Given the description of an element on the screen output the (x, y) to click on. 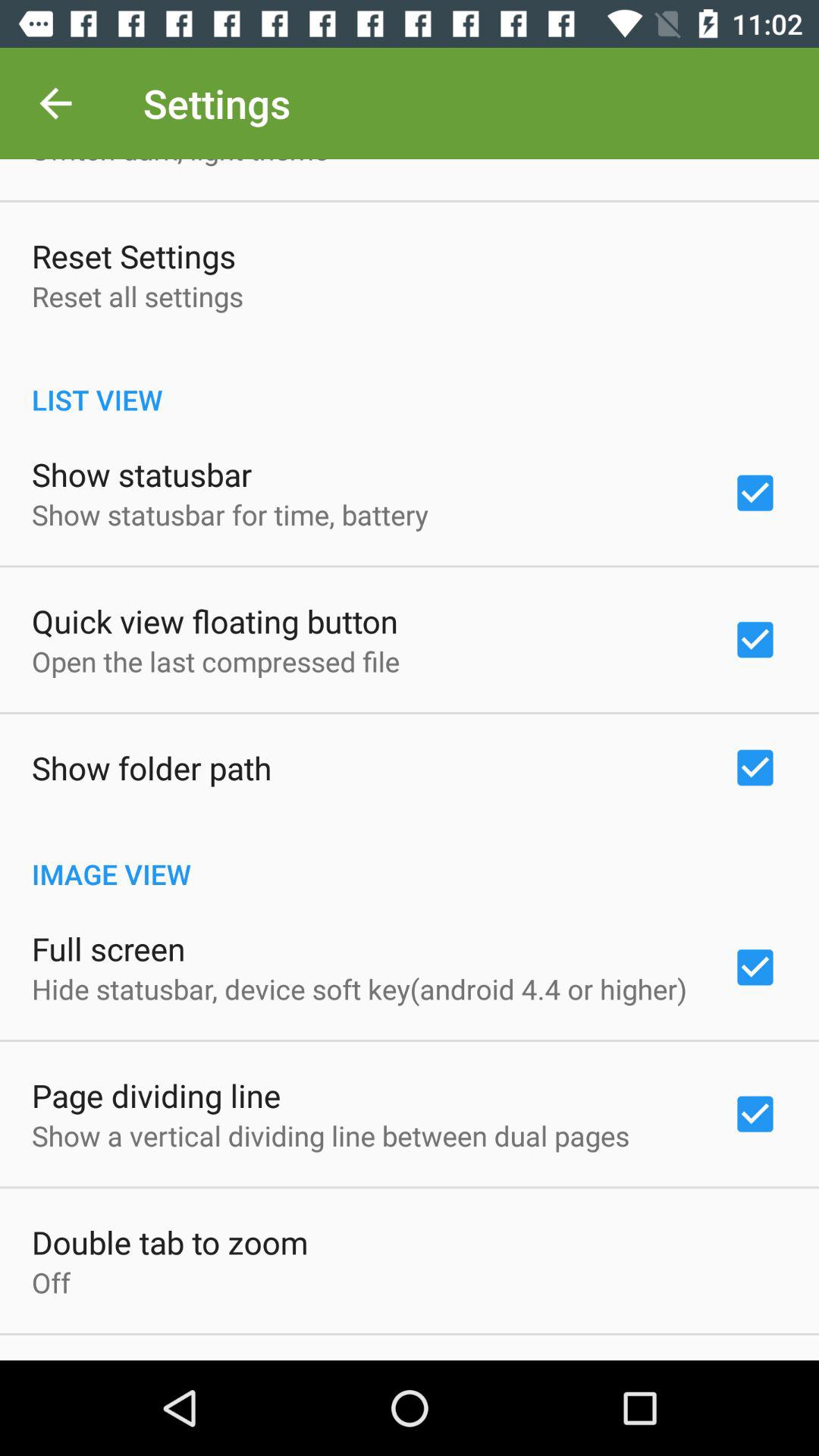
turn off icon above the image view item (151, 767)
